Given the description of an element on the screen output the (x, y) to click on. 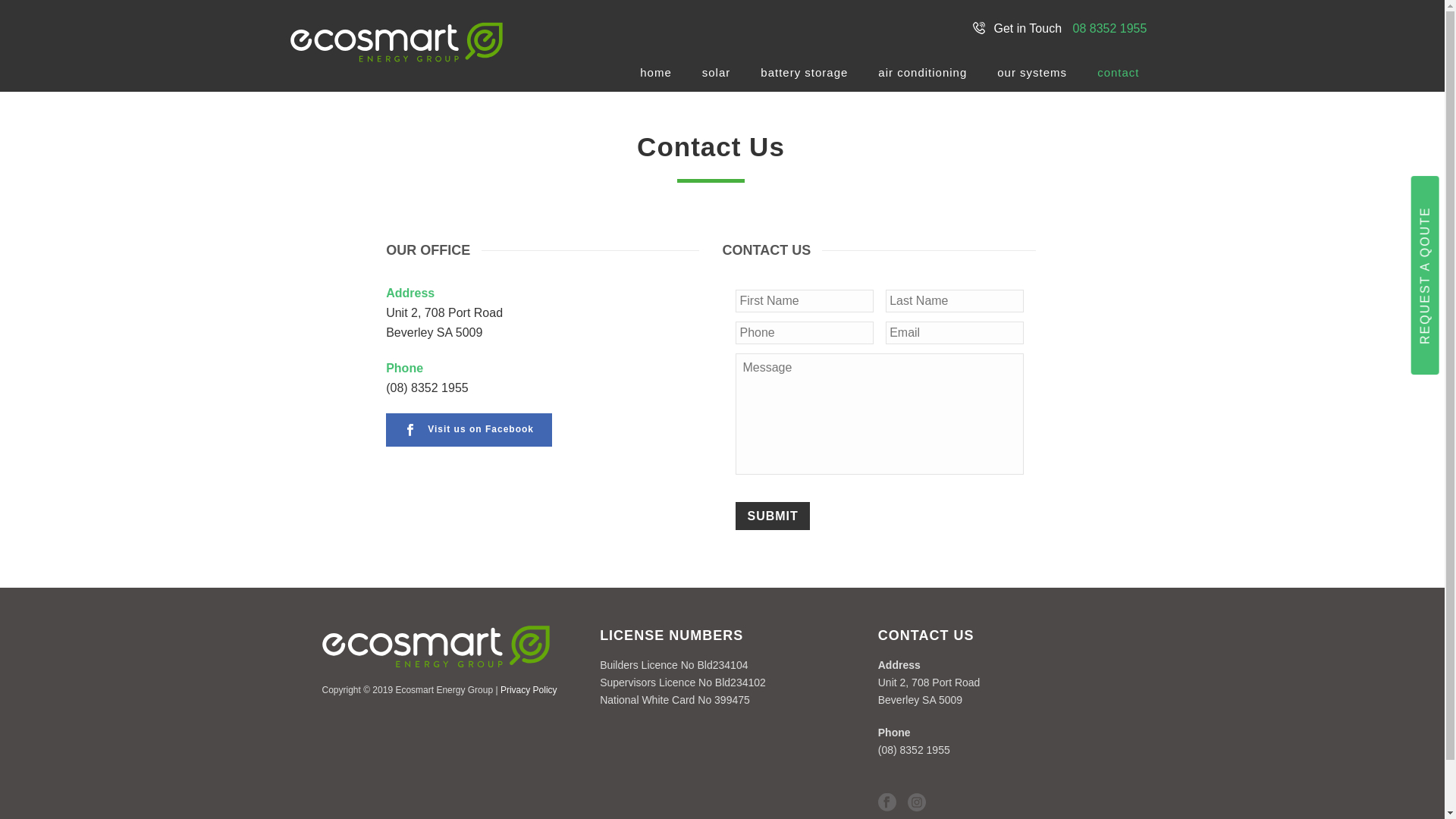
Ecosmart Energy Group Element type: hover (395, 26)
home Element type: text (655, 72)
(08) 8352 1955 Element type: text (914, 749)
Submit Element type: text (772, 516)
contact Element type: text (1118, 72)
our systems Element type: text (1032, 72)
 instagram Element type: hover (916, 802)
(08) 8352 1955 Element type: text (426, 387)
battery storage Element type: text (803, 72)
solar Element type: text (716, 72)
08 8352 1955 Element type: text (1105, 27)
Privacy Policy Element type: text (528, 689)
 facebook Element type: hover (887, 802)
Visit us on Facebook Element type: text (468, 429)
air conditioning Element type: text (922, 72)
